Given the description of an element on the screen output the (x, y) to click on. 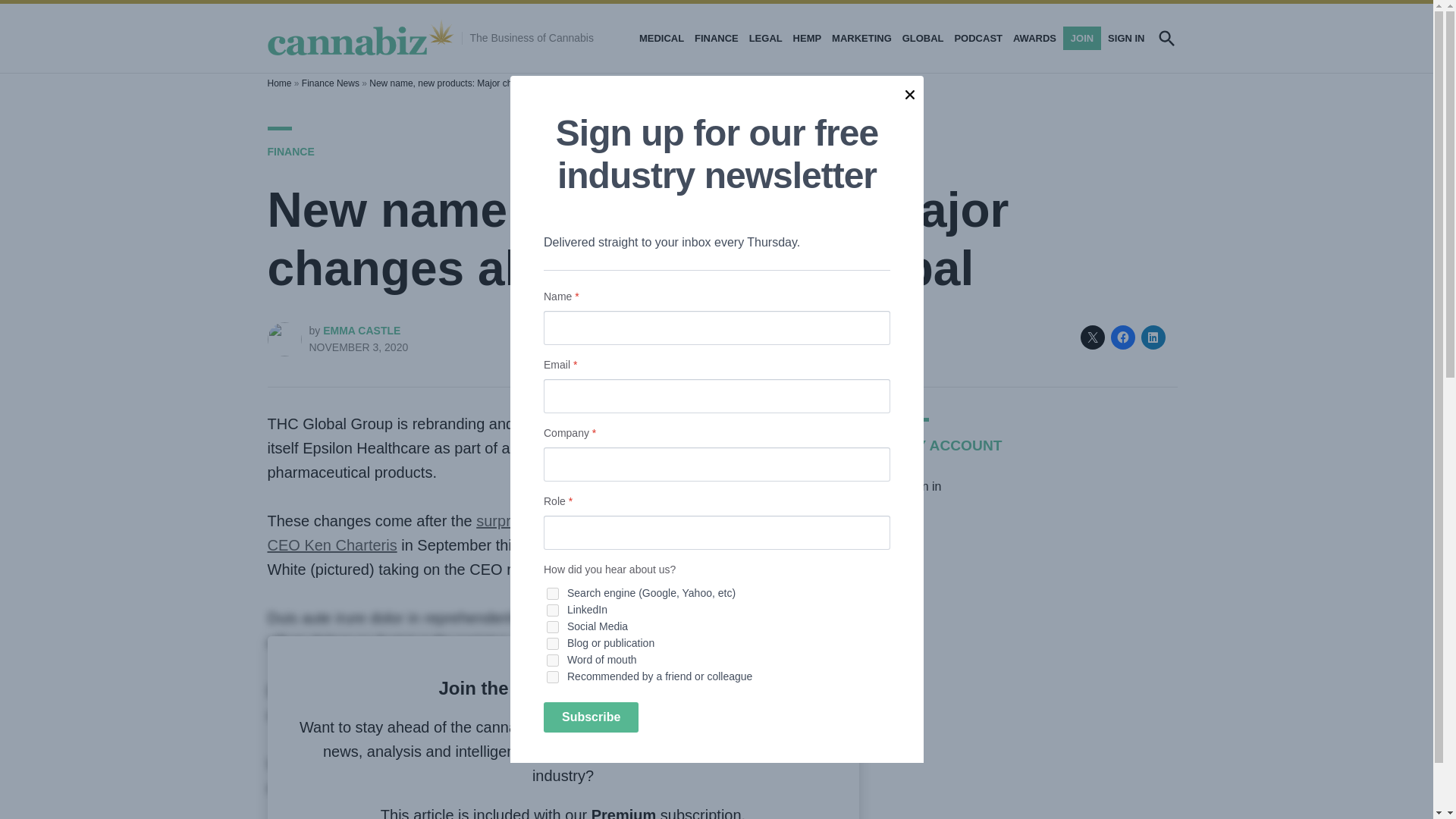
Click to share on LinkedIn (1152, 337)
PODCAST (978, 37)
JOIN (1081, 37)
FINANCE (716, 37)
Cannabiz (501, 37)
SIGN IN (1123, 37)
EMMA CASTLE (361, 330)
Click to share on Facebook (1121, 337)
HEMP (807, 37)
GLOBAL (922, 37)
